Given the description of an element on the screen output the (x, y) to click on. 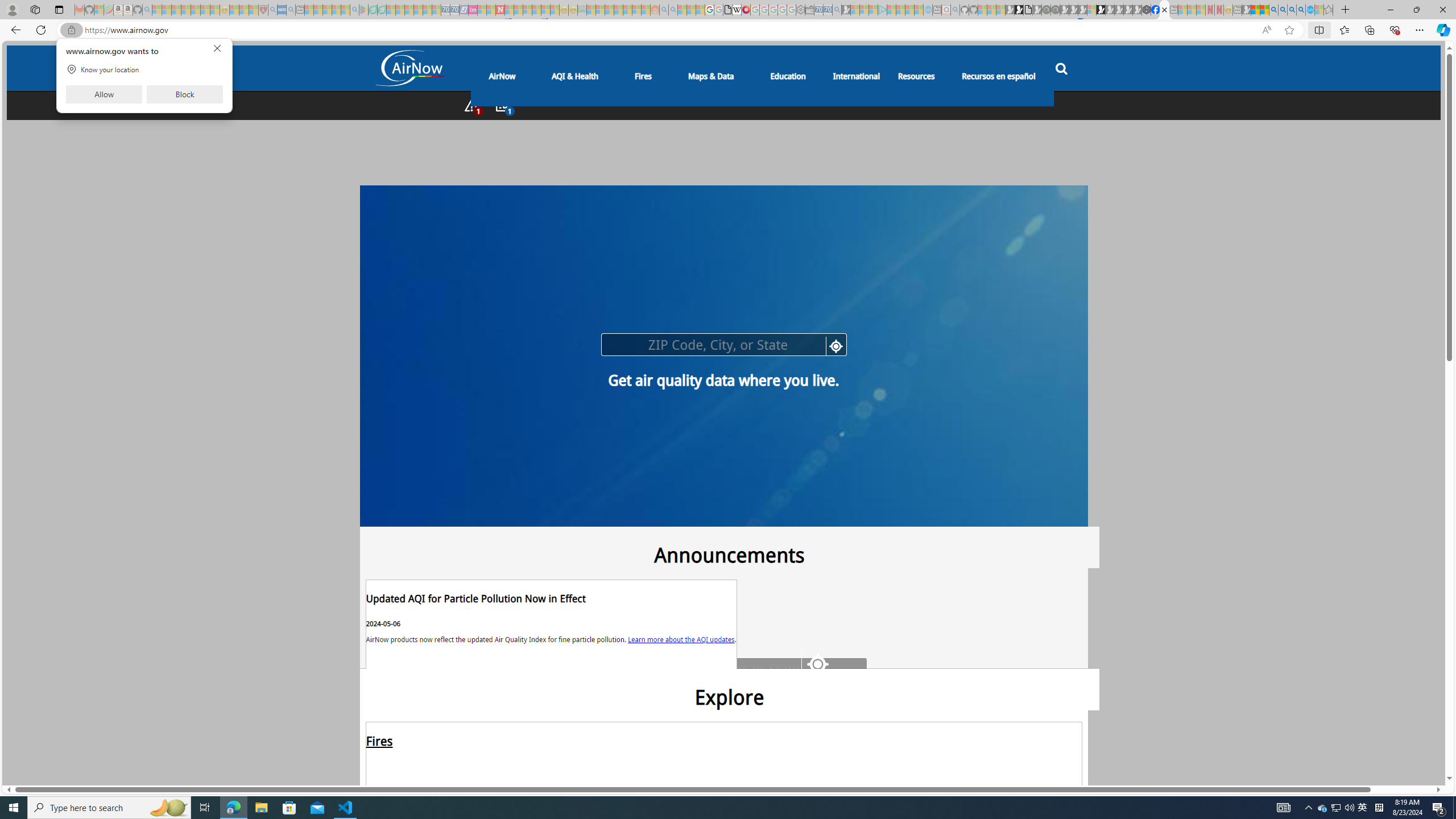
Sign in to your account - Sleeping (1090, 9)
Block (184, 94)
2009 Bing officially replaced Live Search on June 3 - Search (1283, 9)
